Given the description of an element on the screen output the (x, y) to click on. 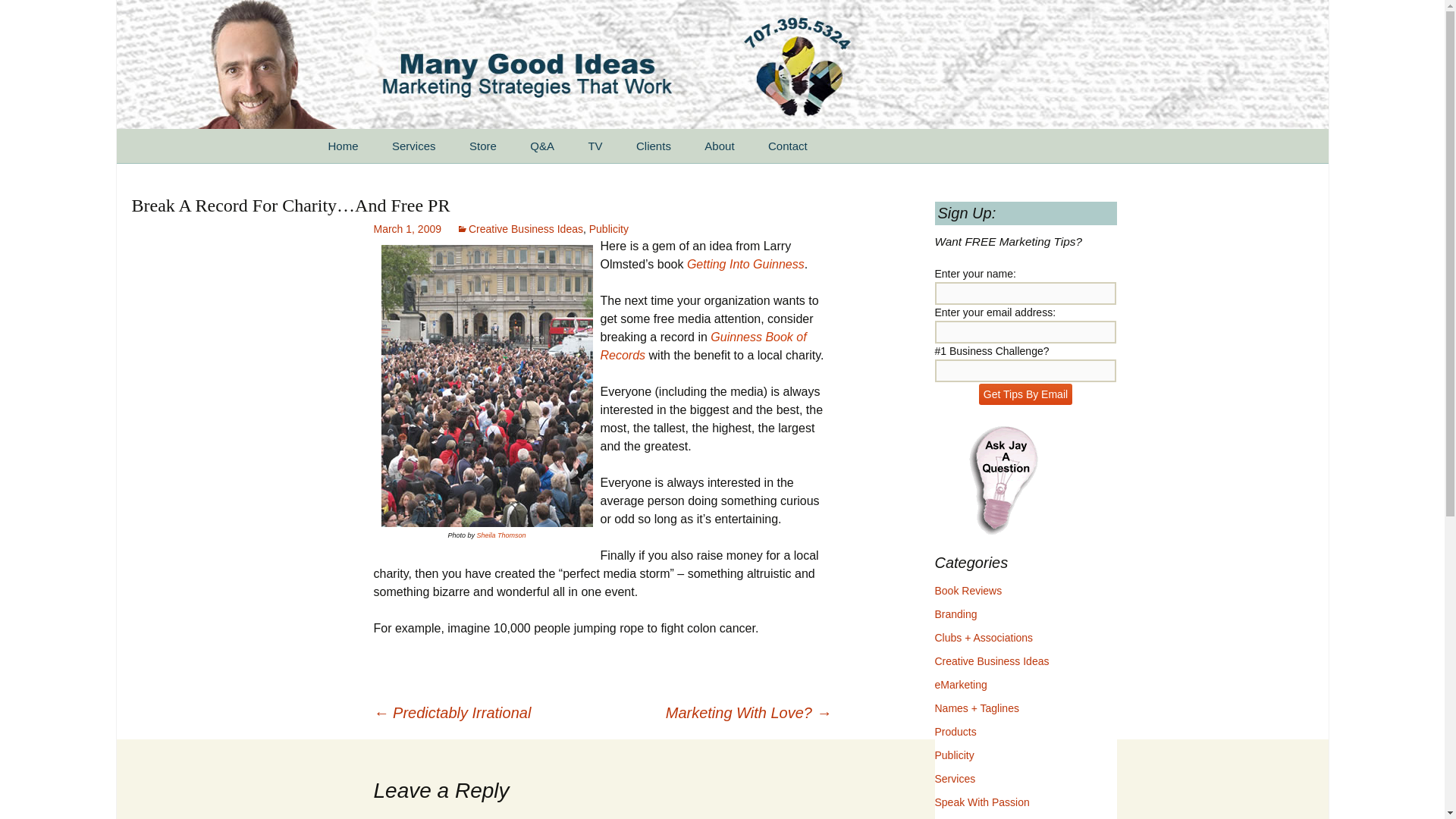
TV (594, 145)
Services (414, 145)
Creative Business Ideas (991, 661)
March 1, 2009 (406, 228)
Speak With Passion (981, 802)
eMarketing (960, 684)
Get Tips By Email (1024, 394)
Products (954, 731)
Ask Jay A Question (1002, 478)
Branding (955, 613)
